Given the description of an element on the screen output the (x, y) to click on. 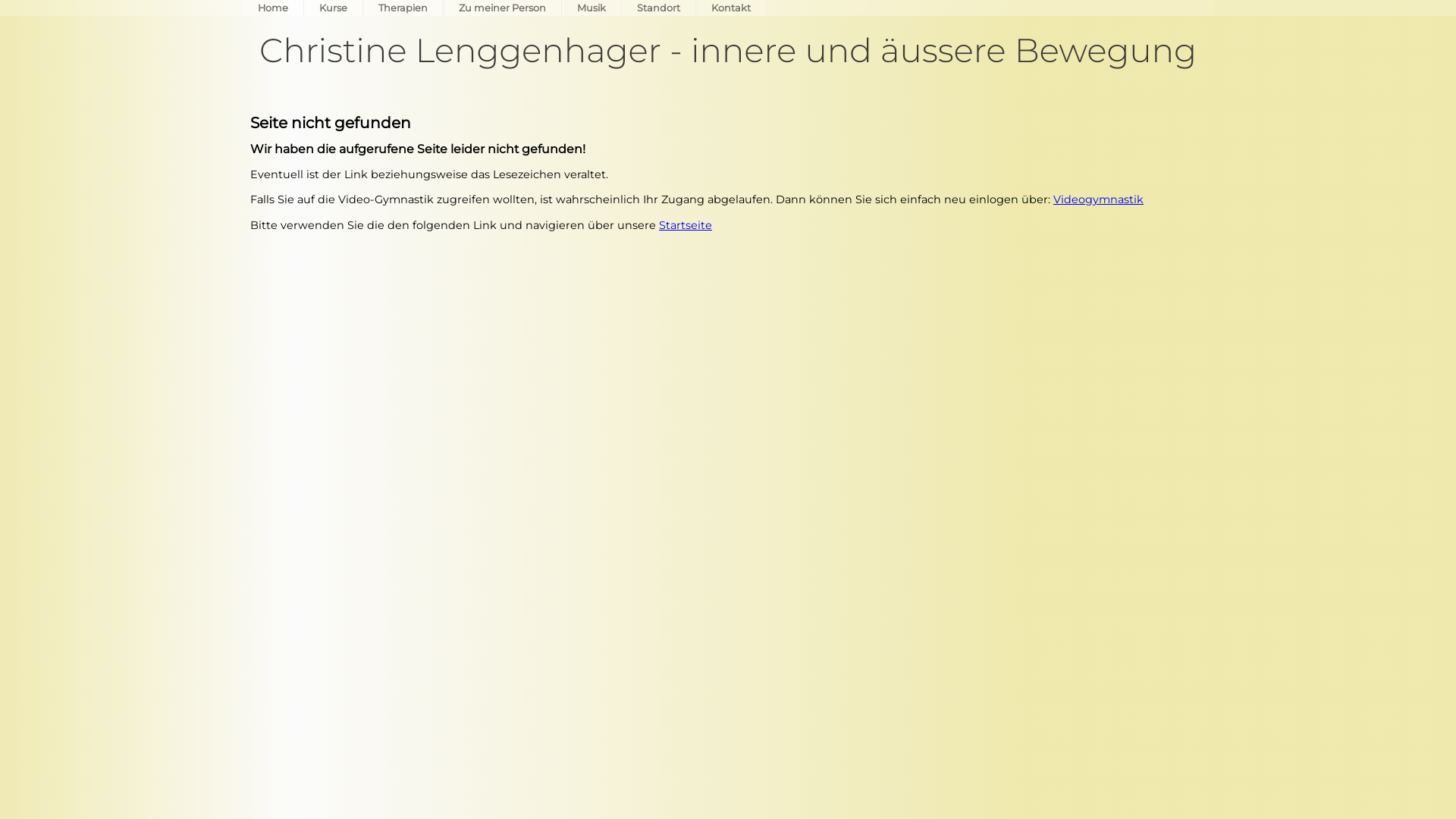
Zu meiner Person Element type: text (502, 7)
Home Element type: text (272, 7)
Videogymnastik Element type: text (1098, 199)
Standort Element type: text (658, 7)
Musik Element type: text (591, 7)
Therapien Element type: text (402, 7)
Kurse Element type: text (333, 7)
Kontakt Element type: text (730, 7)
Startseite Element type: text (685, 225)
